Given the description of an element on the screen output the (x, y) to click on. 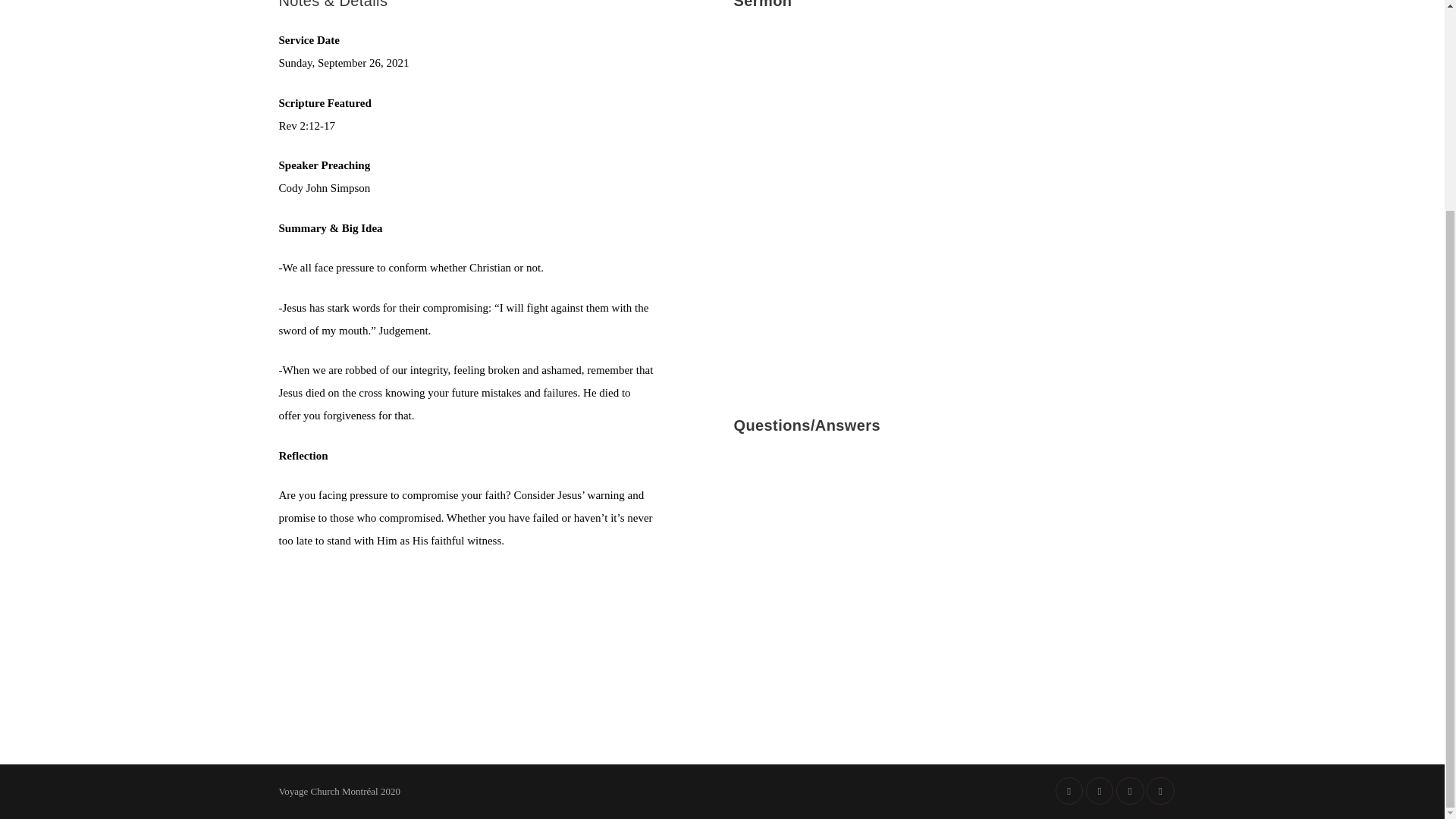
Questions on Compromising our Faith (949, 574)
